Given the description of an element on the screen output the (x, y) to click on. 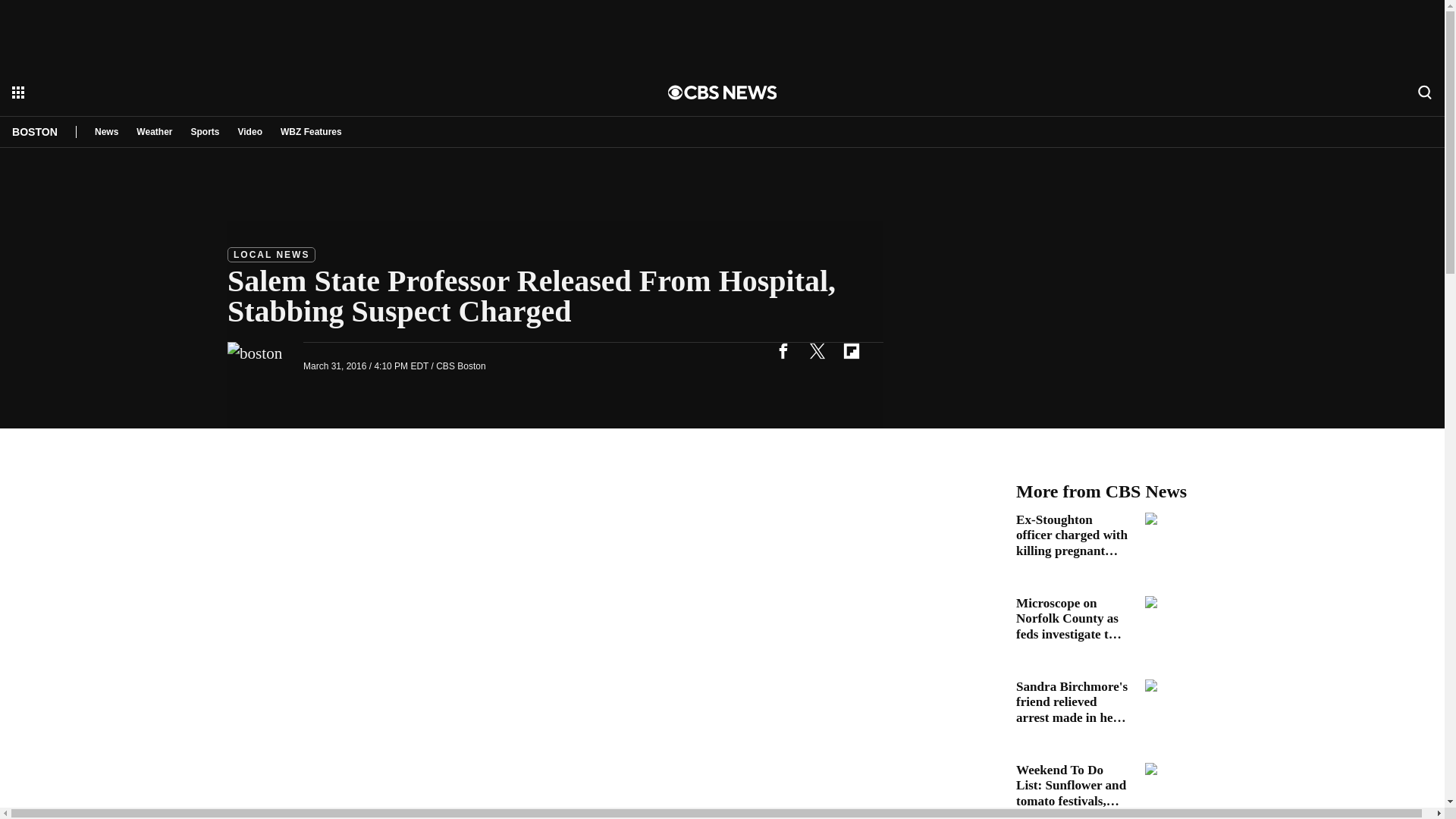
facebook (782, 350)
flipboard (850, 350)
twitter (816, 350)
